Given the description of an element on the screen output the (x, y) to click on. 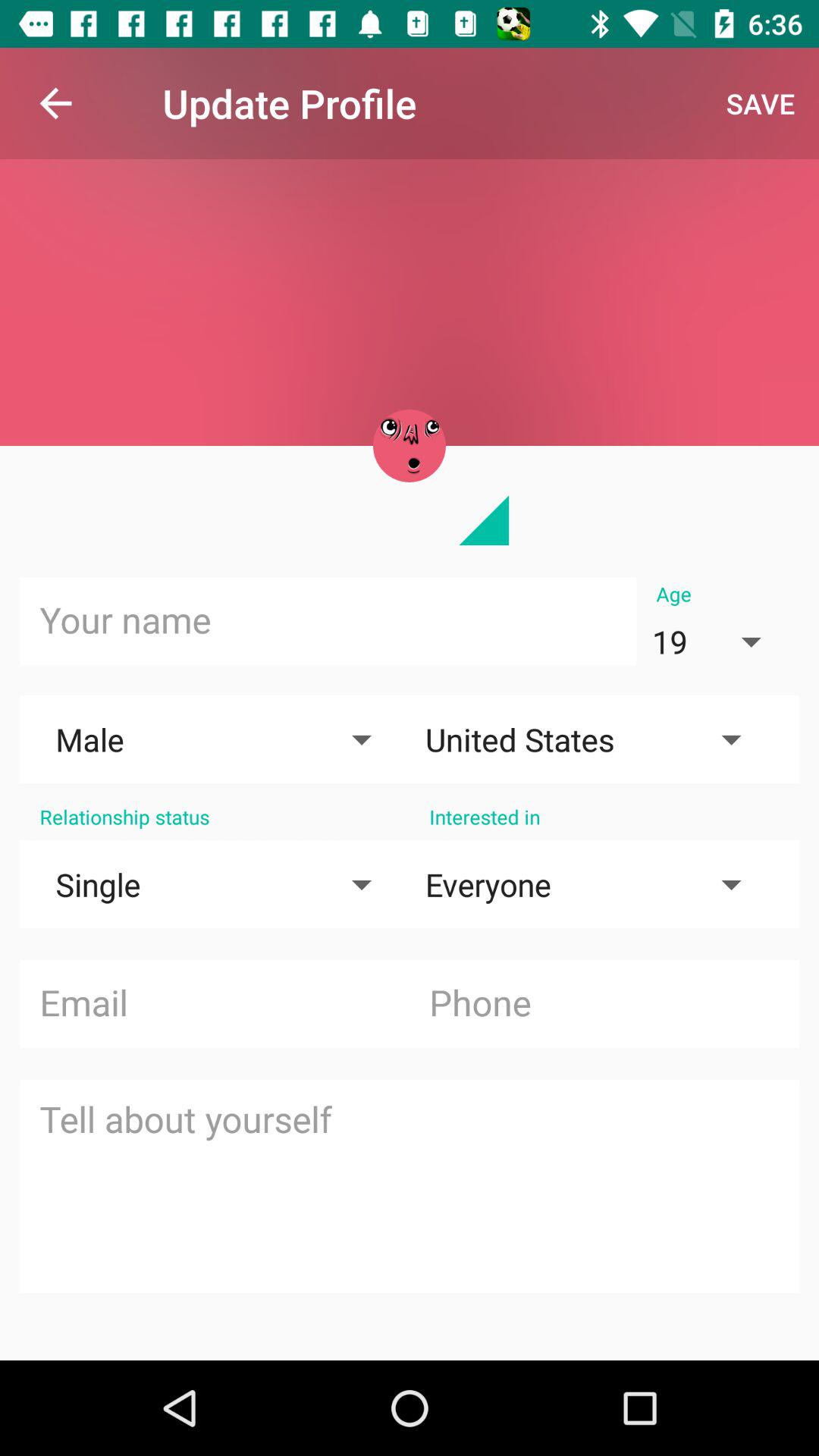
enter profile data (409, 1186)
